Given the description of an element on the screen output the (x, y) to click on. 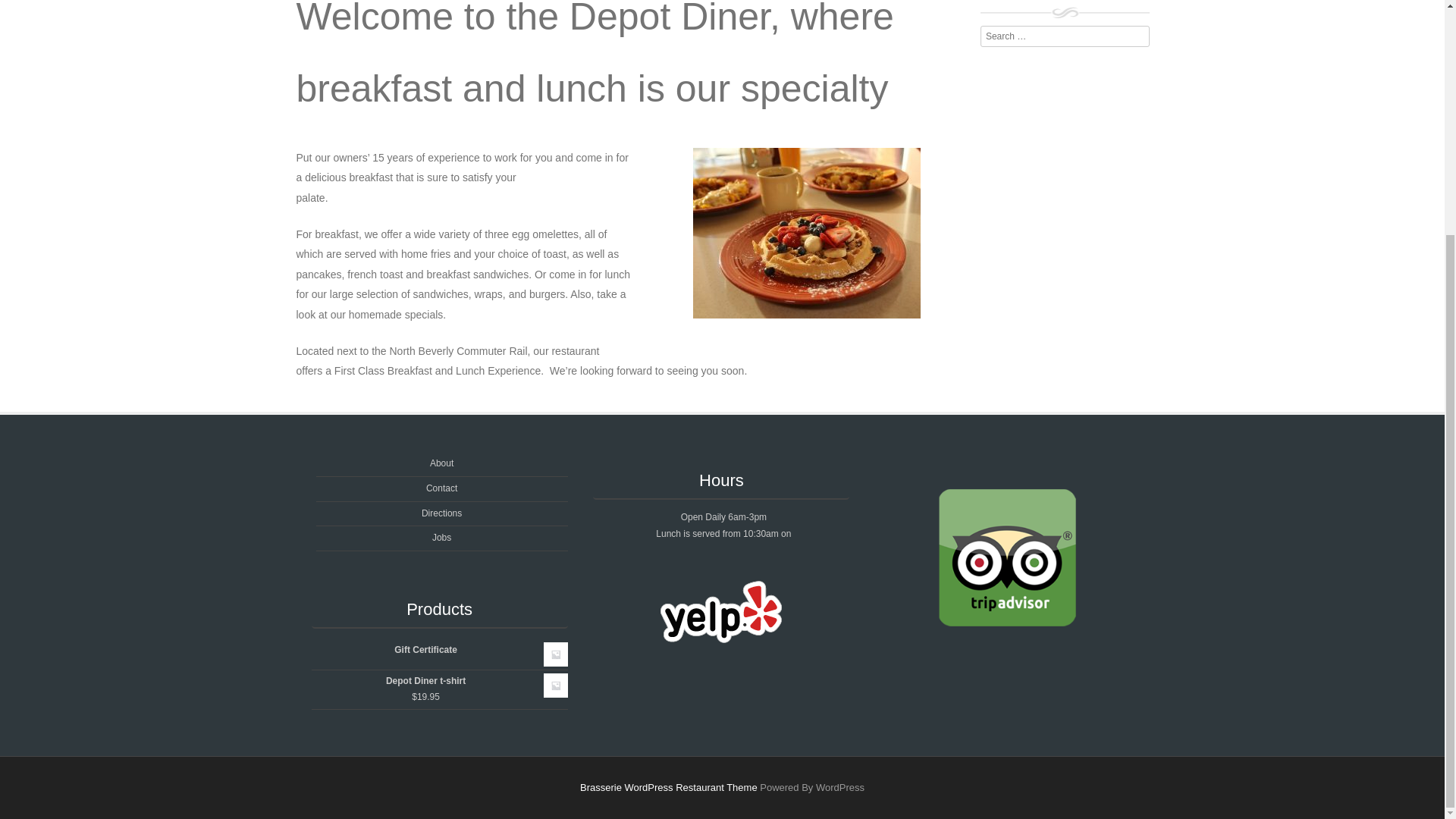
Brasserie WordPress Restaurant Theme (668, 787)
Directions (441, 511)
Depot Diner t-shirt (439, 681)
Gift Certificate (439, 650)
About (440, 462)
Contact (441, 488)
Jobs (441, 537)
